Given the description of an element on the screen output the (x, y) to click on. 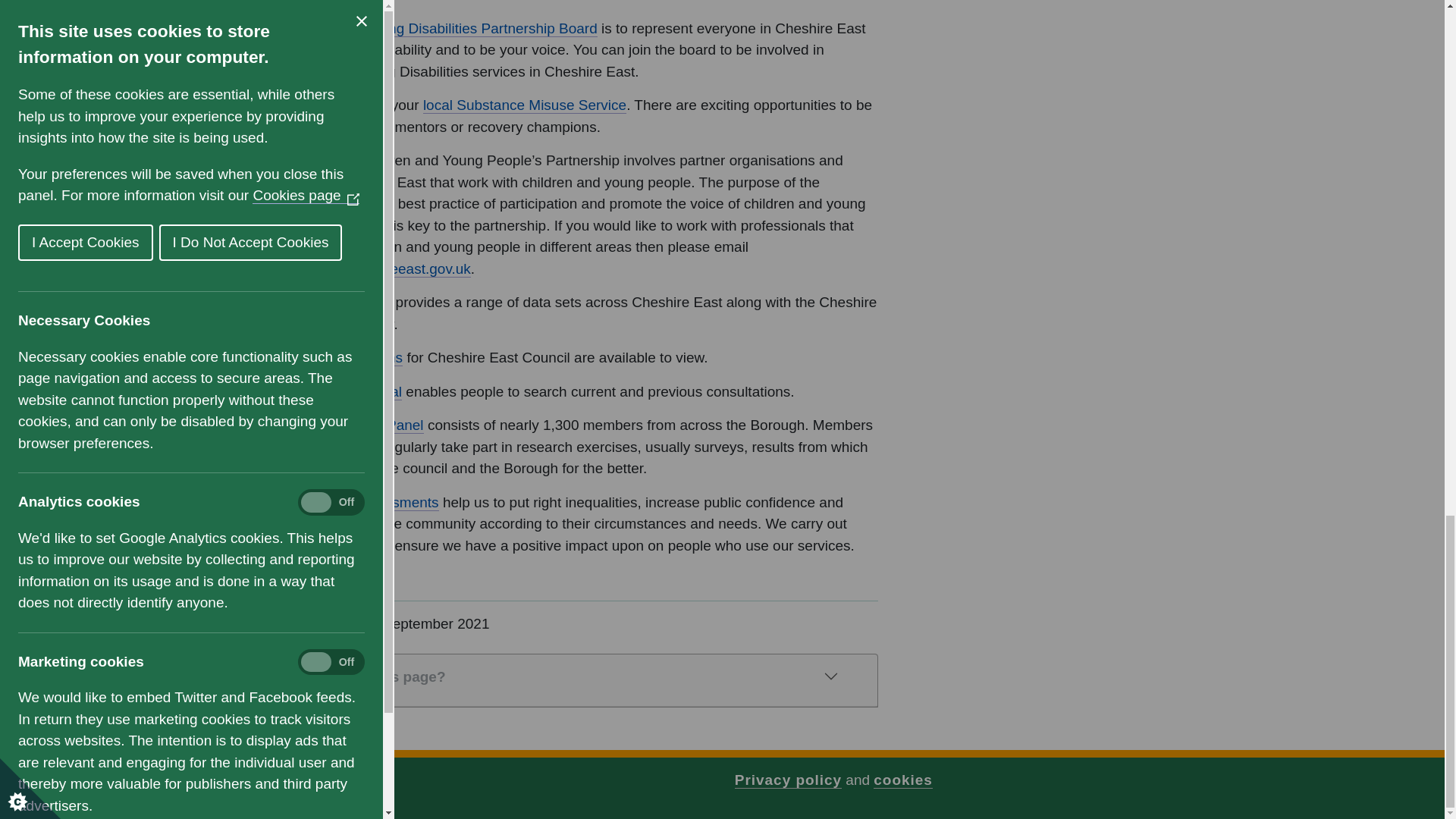
Learning Disability Partnership Board (471, 28)
Can we improve this page? (554, 677)
formal Consultations (336, 357)
local Substance Misuse Service (524, 105)
Equality Analysis Impact Assessments (345, 502)
Consultations in Cheshire East (336, 357)
Equality Impact Assessments (345, 502)
Open Data Portal (336, 302)
Learning Disabilities Partnership Board (471, 28)
Digital Influence Panel (352, 425)
The Digital Influence Panel (352, 425)
Consultation Portal (342, 392)
Drug and substance misuse (524, 105)
